Given the description of an element on the screen output the (x, y) to click on. 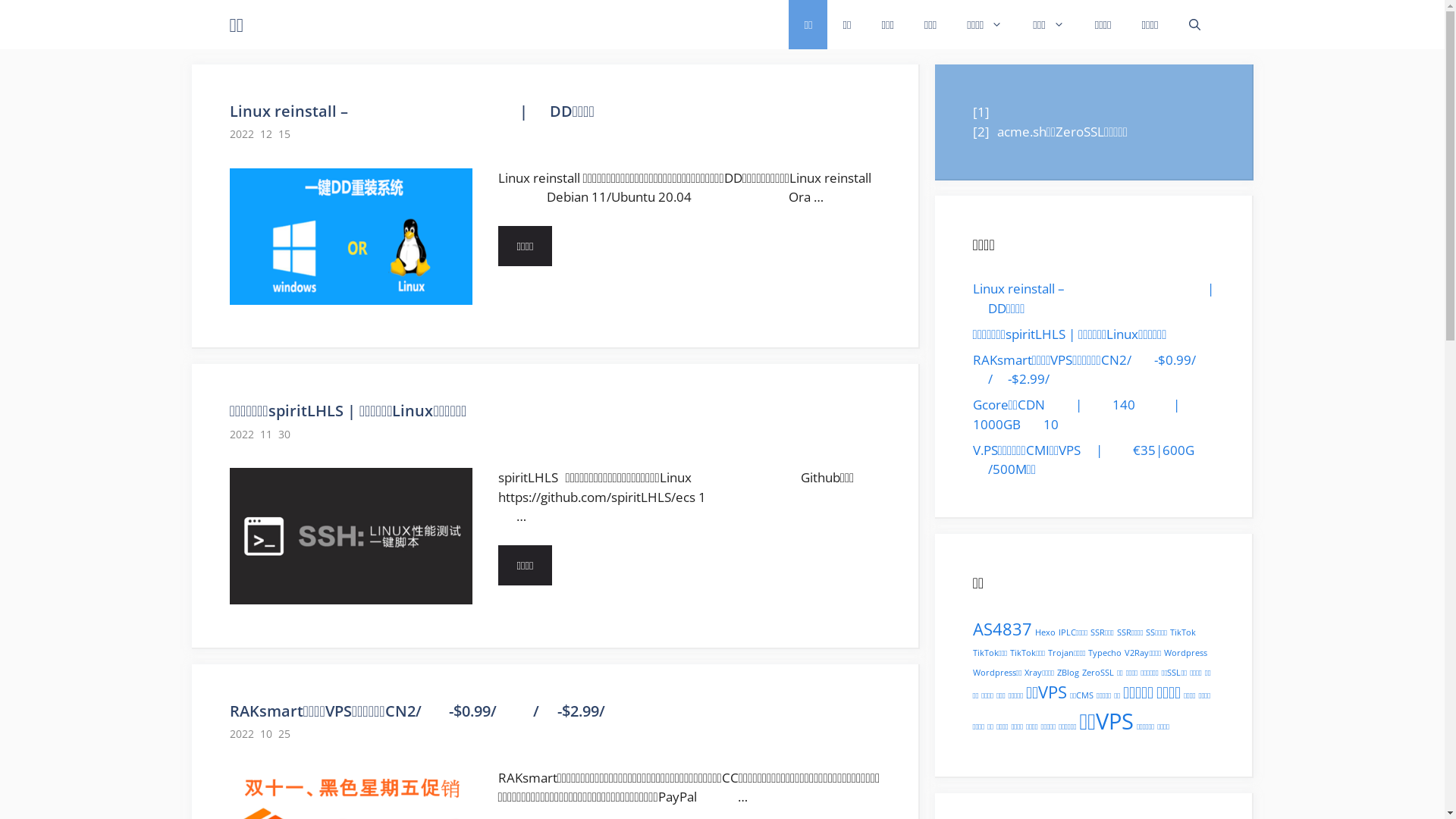
ZeroSSL Element type: text (1097, 672)
AS4837 Element type: text (1001, 628)
Hexo Element type: text (1044, 631)
Typecho Element type: text (1104, 652)
TikTok Element type: text (1182, 631)
Wordpress Element type: text (1185, 652)
ZBlog Element type: text (1068, 672)
